Given the description of an element on the screen output the (x, y) to click on. 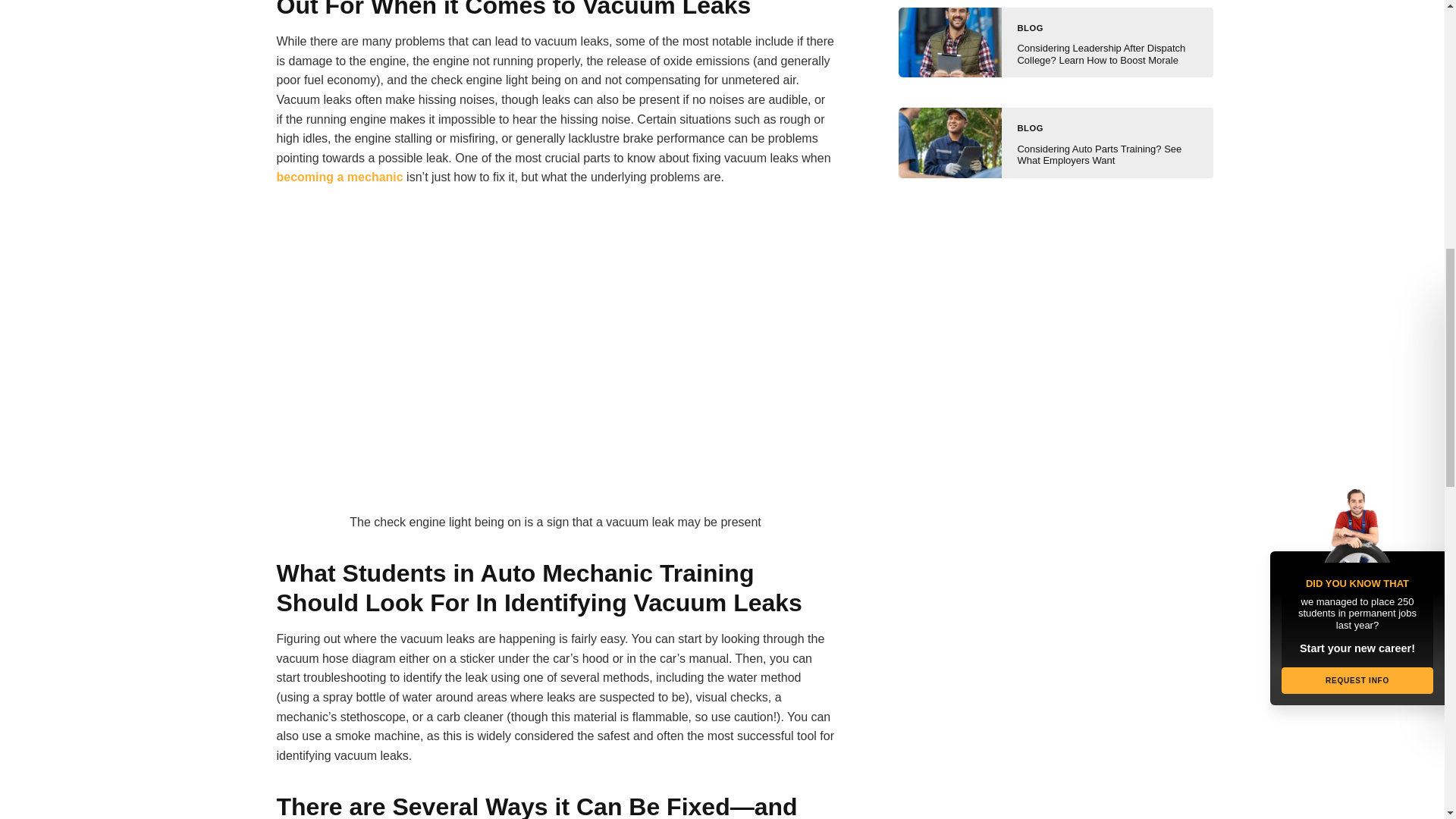
becoming a mechanic (339, 176)
